Given the description of an element on the screen output the (x, y) to click on. 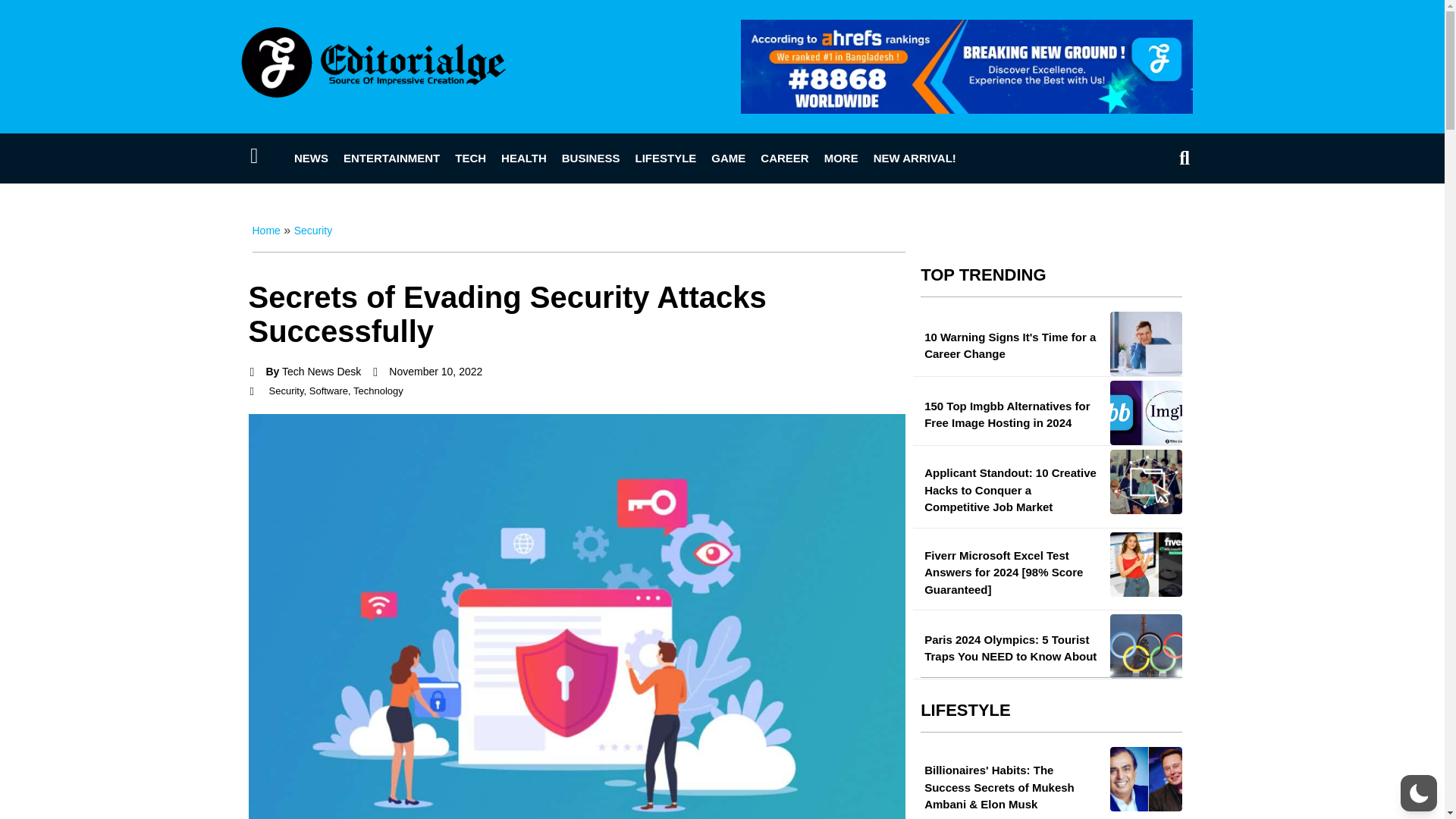
ENTERTAINMENT (391, 158)
GAME (727, 158)
HEALTH (523, 158)
LIFESTYLE (665, 158)
TECH (469, 158)
NEWS (311, 158)
BUSINESS (590, 158)
